Given the description of an element on the screen output the (x, y) to click on. 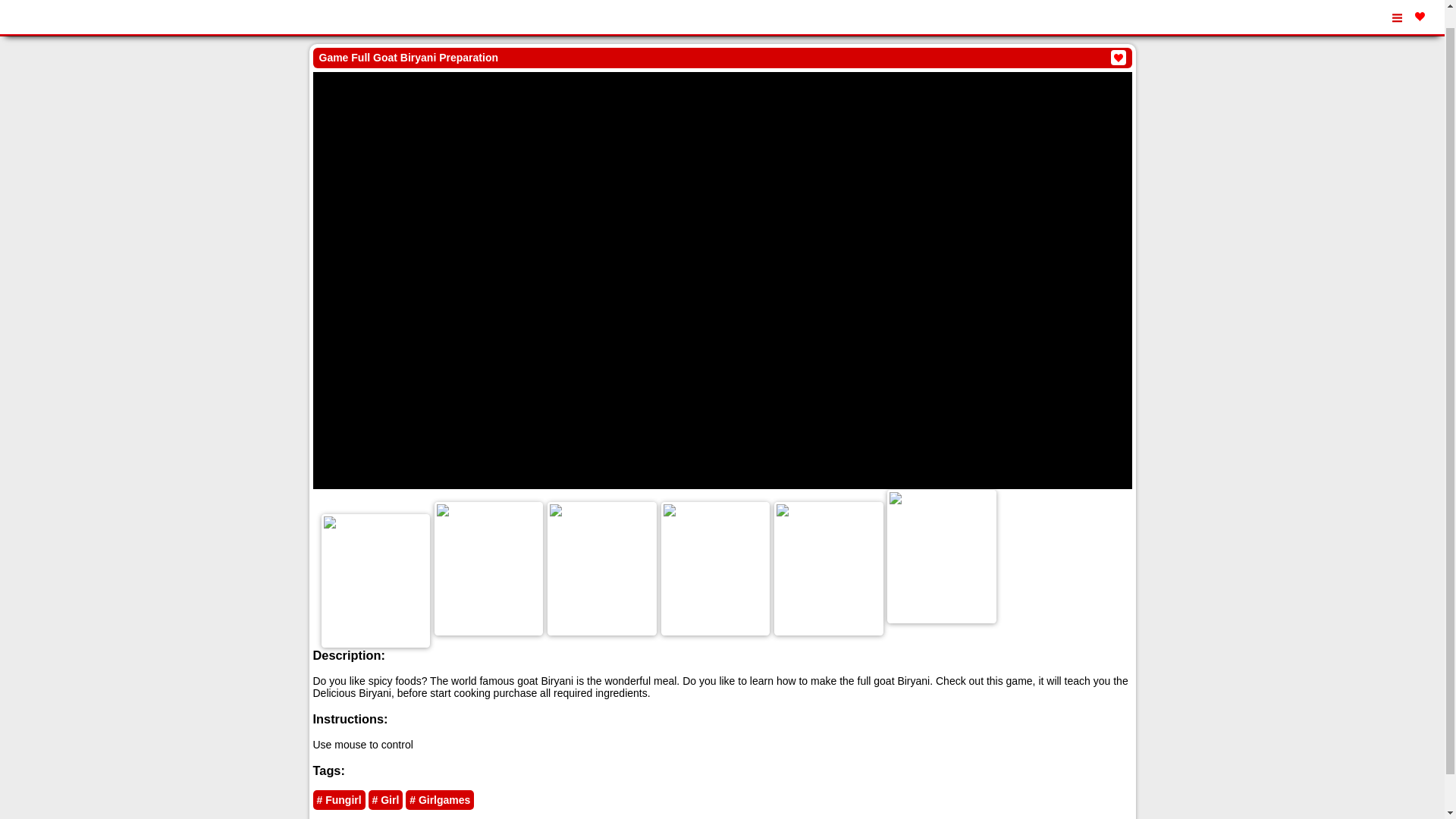
Games (25, 25)
Girls (118, 25)
Arcade (73, 25)
Free games (79, 6)
